Given the description of an element on the screen output the (x, y) to click on. 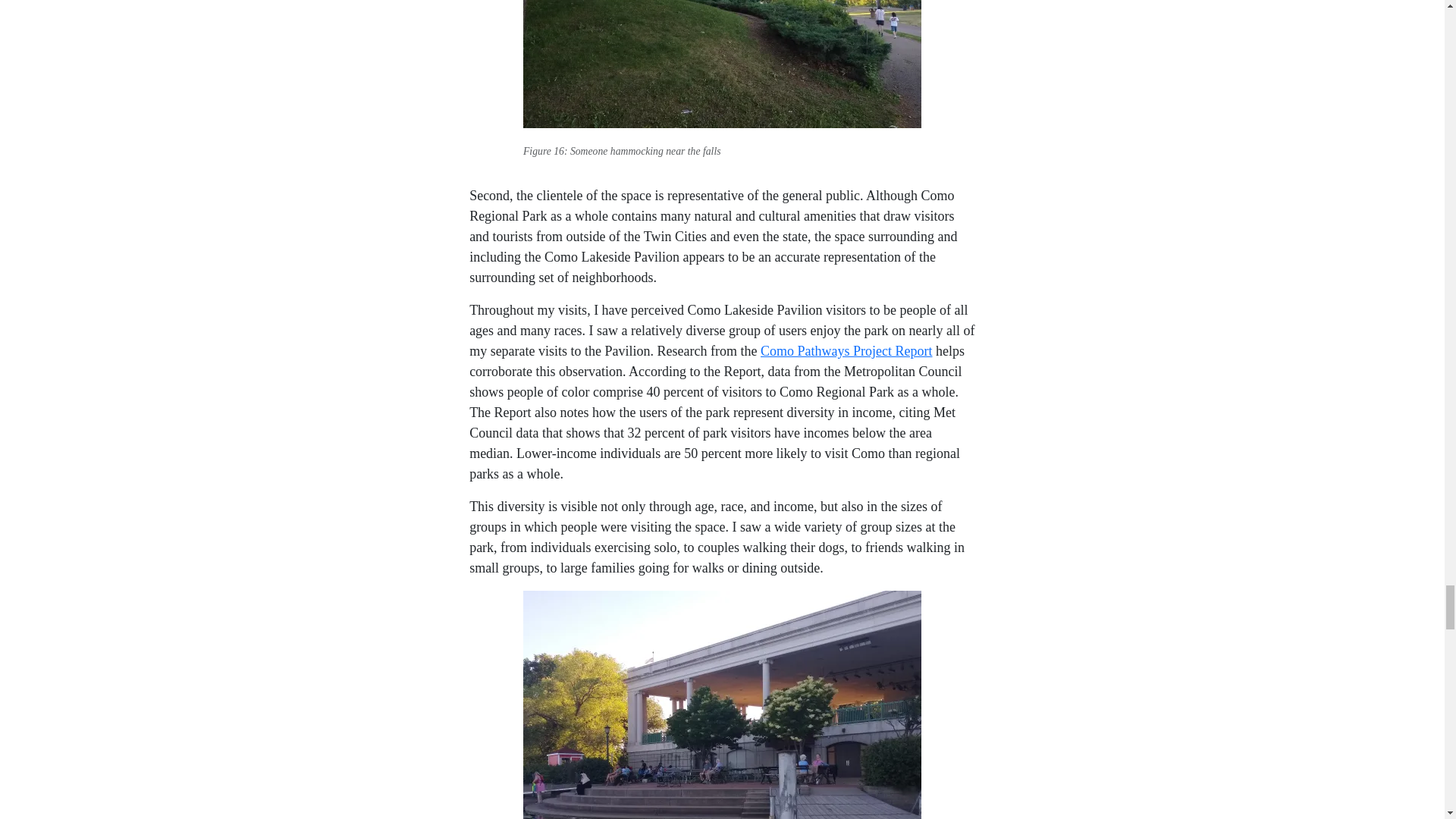
Como Pathways Project Report (845, 350)
